Given the description of an element on the screen output the (x, y) to click on. 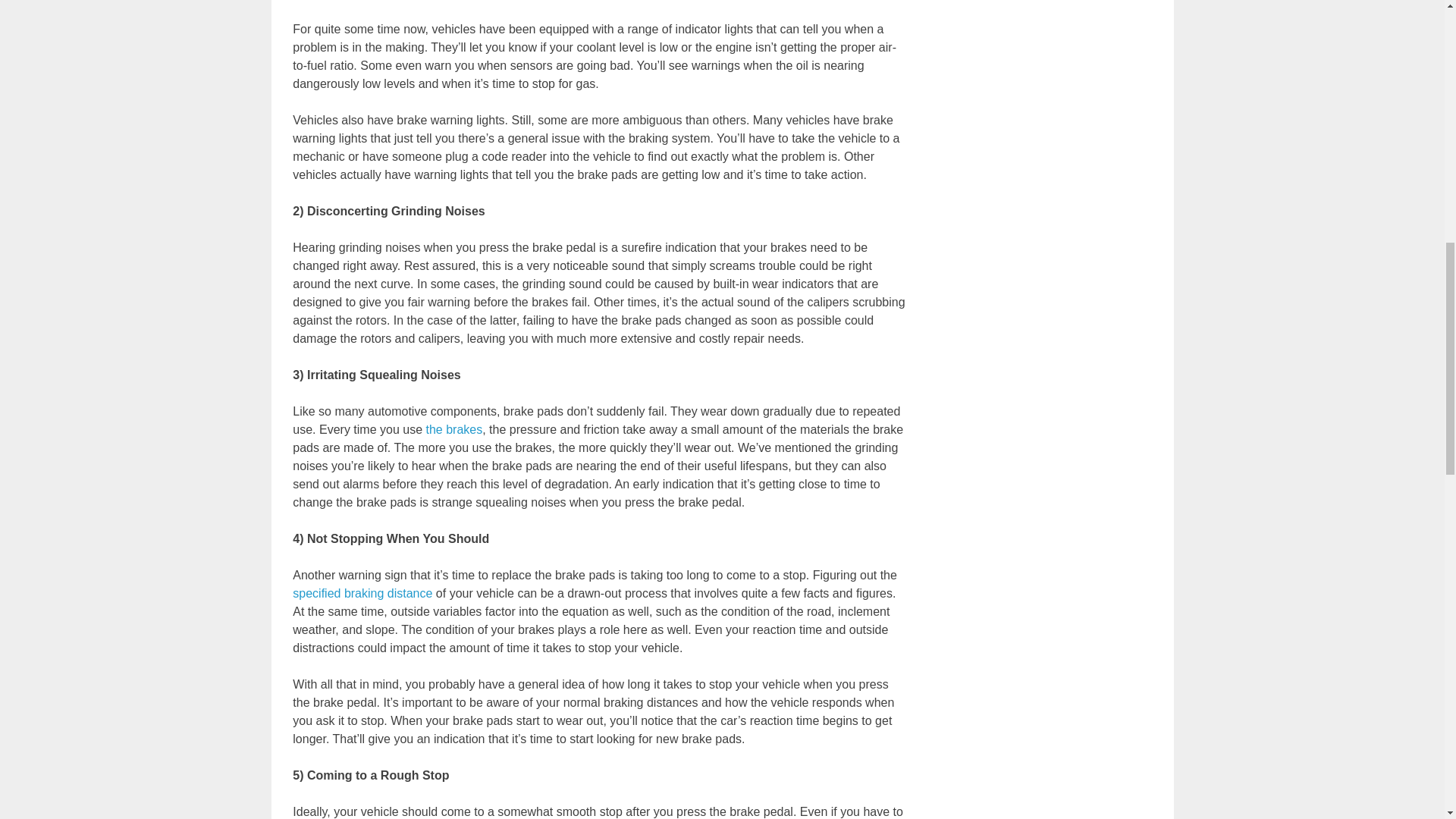
the brakes (453, 429)
specified braking distance (362, 593)
